Given the description of an element on the screen output the (x, y) to click on. 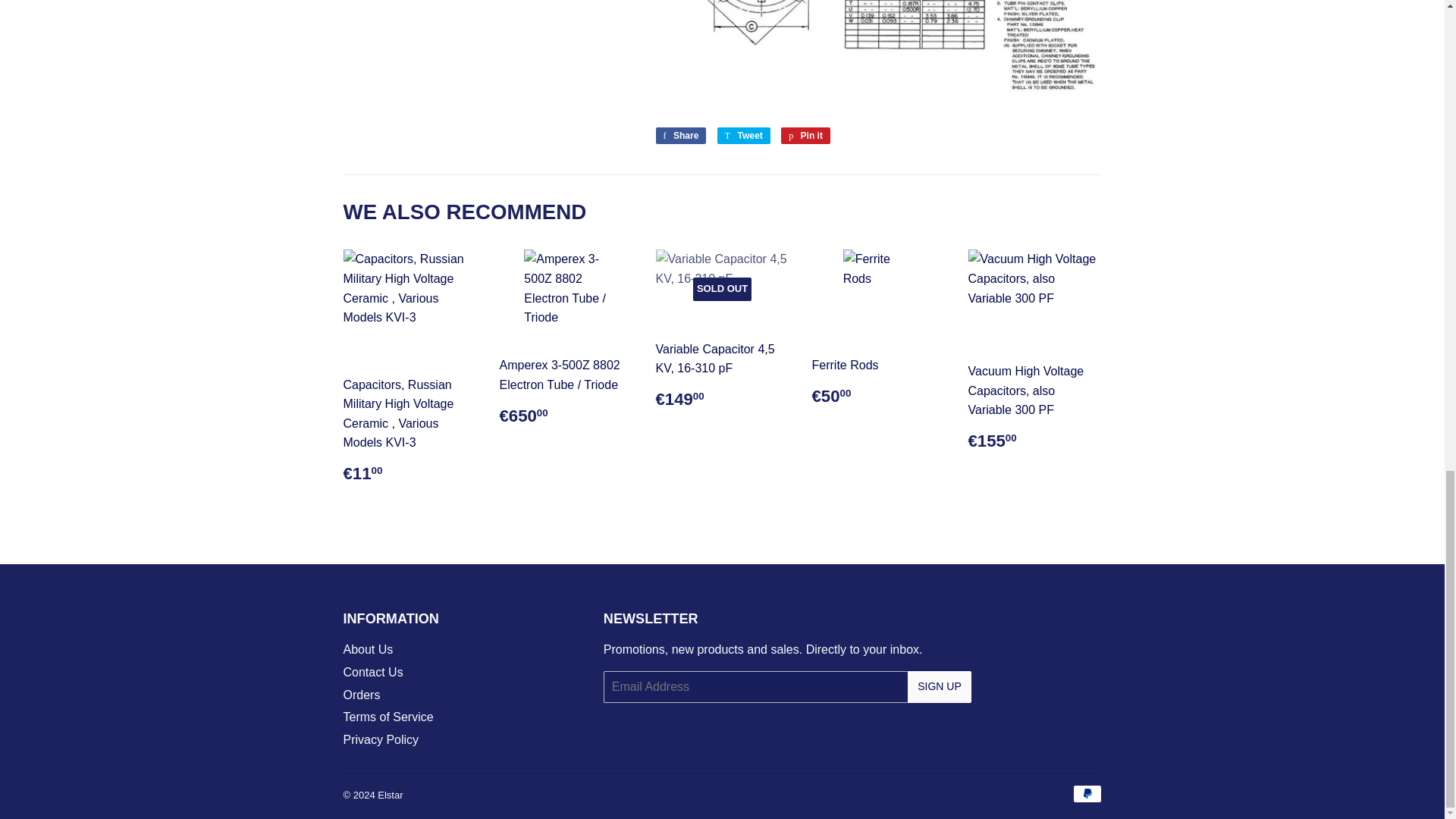
Tweet on Twitter (743, 135)
Share on Facebook (680, 135)
PayPal (1085, 793)
Pin on Pinterest (804, 135)
